Given the description of an element on the screen output the (x, y) to click on. 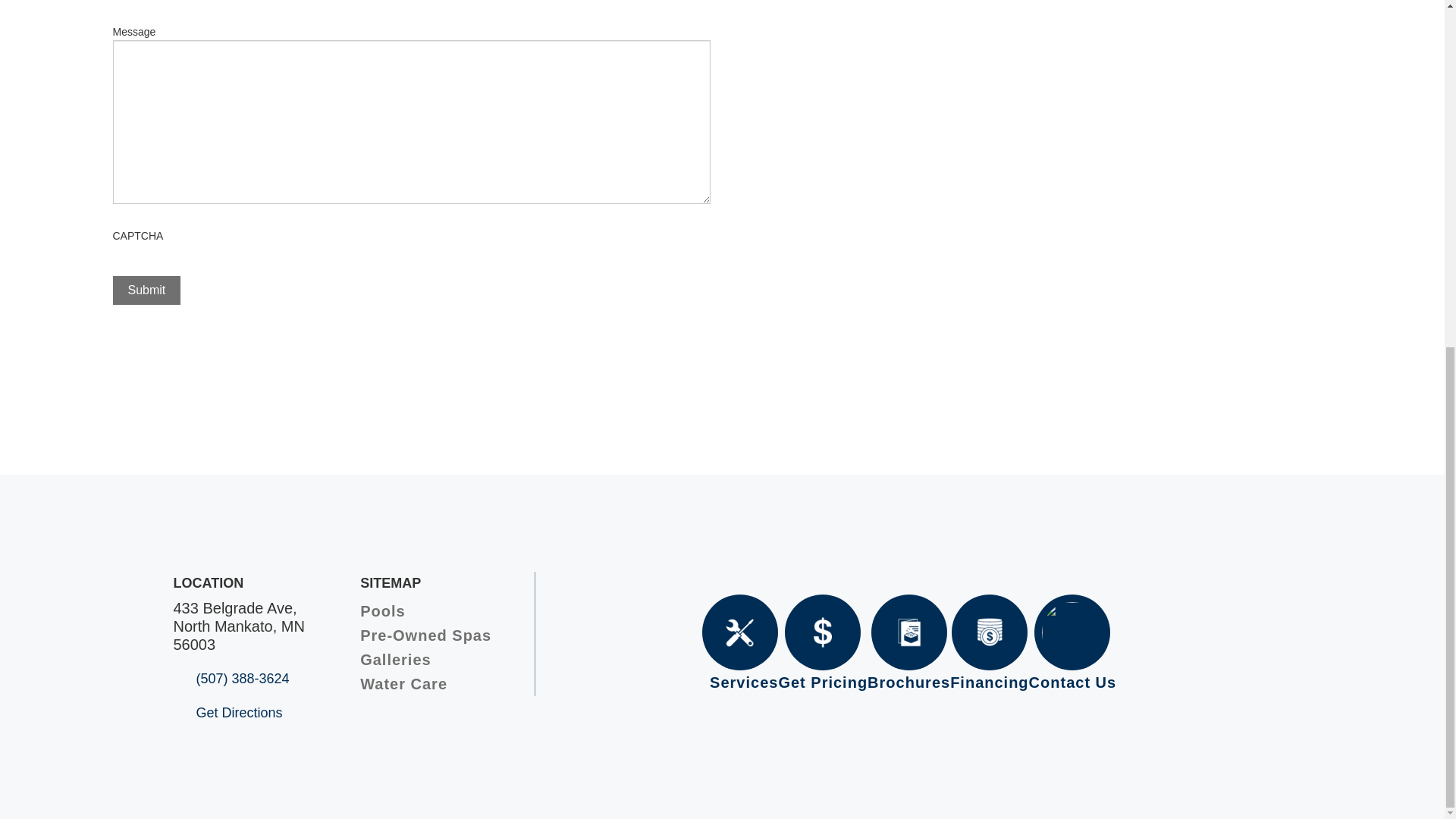
Submit (146, 290)
